Given the description of an element on the screen output the (x, y) to click on. 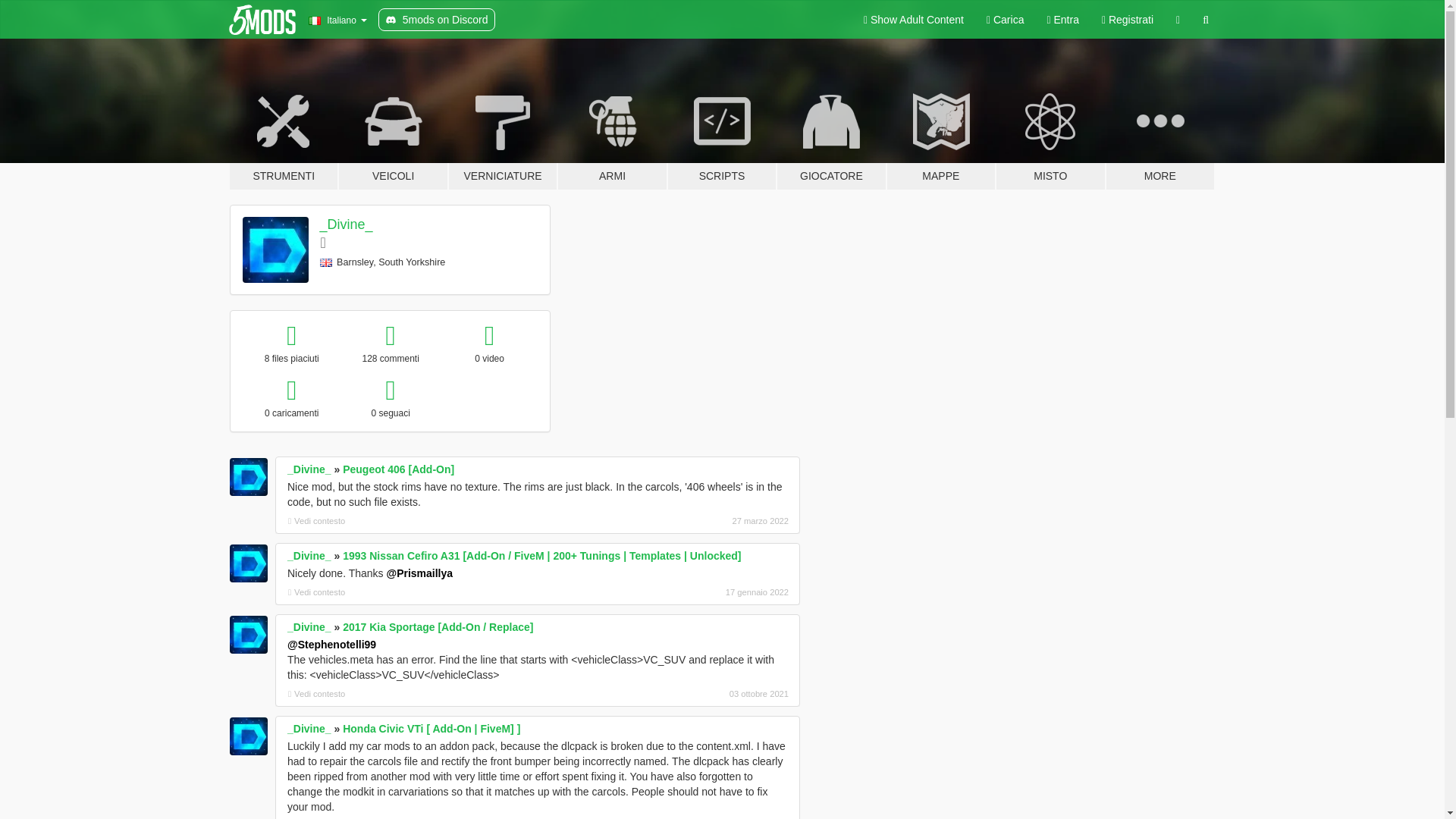
Entra (1062, 19)
Carica (1005, 19)
5mods on Discord (436, 19)
  Italiano (336, 19)
Regno Unito (325, 262)
Show Adult Content (913, 19)
Registrati (1127, 19)
Light mode (913, 19)
